Given the description of an element on the screen output the (x, y) to click on. 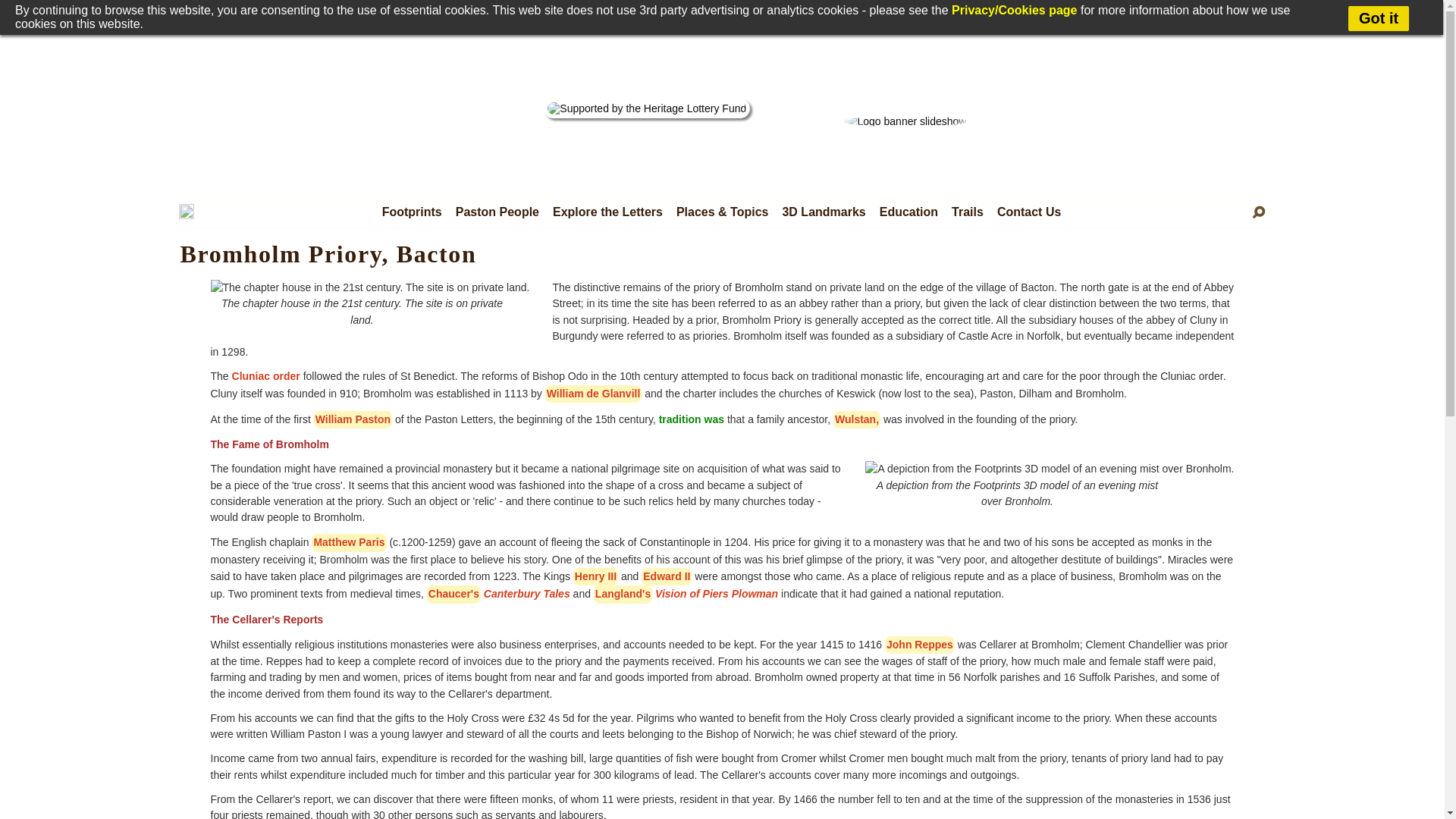
Footprints (412, 212)
Education (909, 212)
Footprints (412, 212)
Trails (968, 212)
Paston People (497, 212)
Explore the Letters (608, 212)
Supported by the Heritage Lottery Fund (646, 107)
Home (186, 215)
Education (909, 212)
Logo banner slideshow (905, 121)
